Given the description of an element on the screen output the (x, y) to click on. 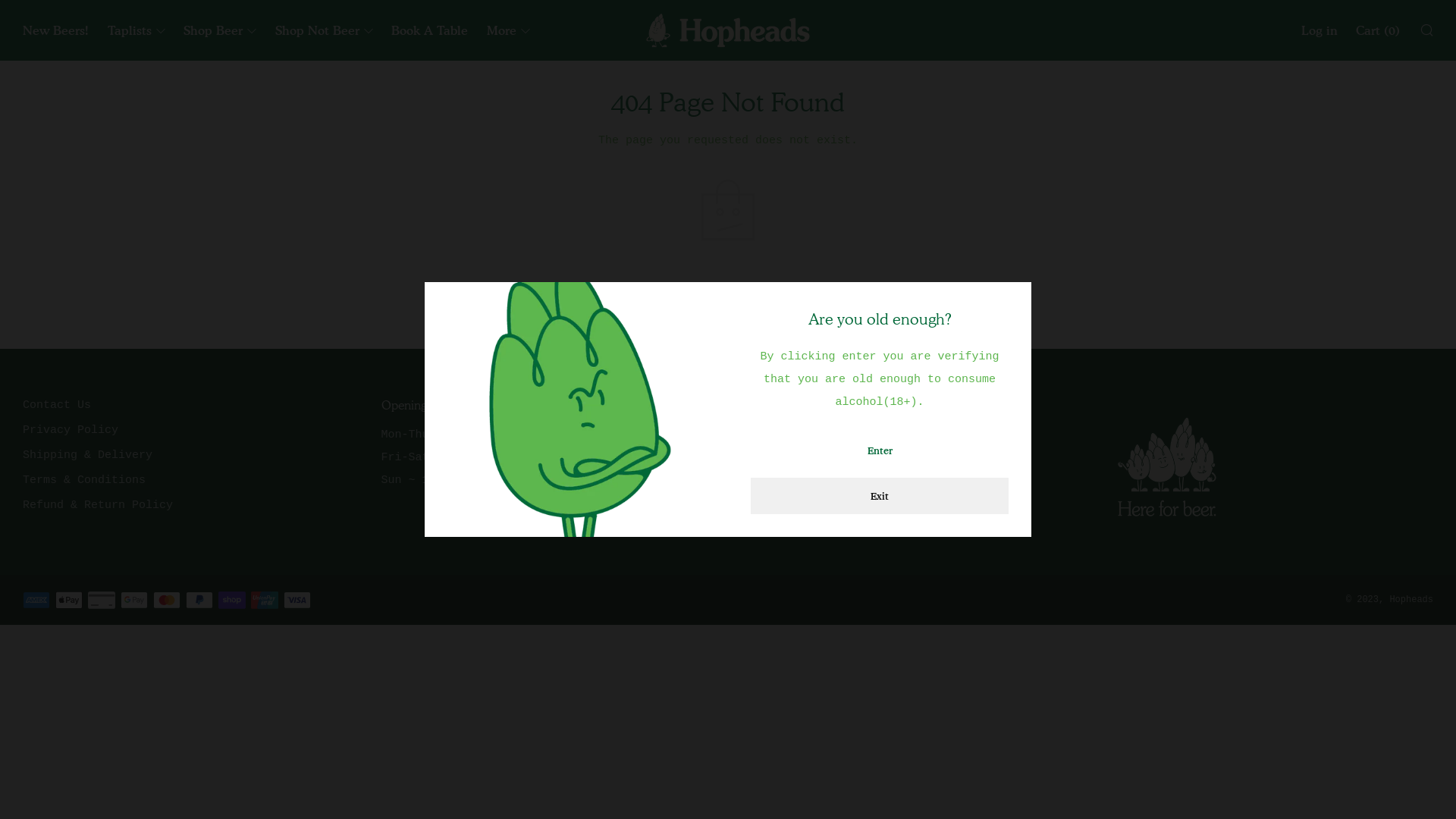
Cart (0) Element type: text (1377, 30)
Search Element type: text (1425, 29)
Facebook Element type: text (766, 434)
Contact Us Element type: text (56, 404)
New Beers! Element type: text (55, 30)
Enter Element type: text (879, 450)
Shipping & Delivery Element type: text (87, 454)
Continue shopping Element type: text (727, 287)
Shop Beer Element type: text (219, 30)
Terms & Conditions Element type: text (83, 479)
Privacy Policy Element type: text (70, 429)
Untappd Element type: text (763, 479)
More Element type: text (508, 30)
Refund & Return Policy Element type: text (97, 504)
Instagram Element type: text (769, 457)
Taplists Element type: text (136, 30)
Shop Not Beer Element type: text (324, 30)
Book A Table Element type: text (429, 30)
Log in Element type: text (1319, 30)
Exit Element type: text (879, 495)
